Given the description of an element on the screen output the (x, y) to click on. 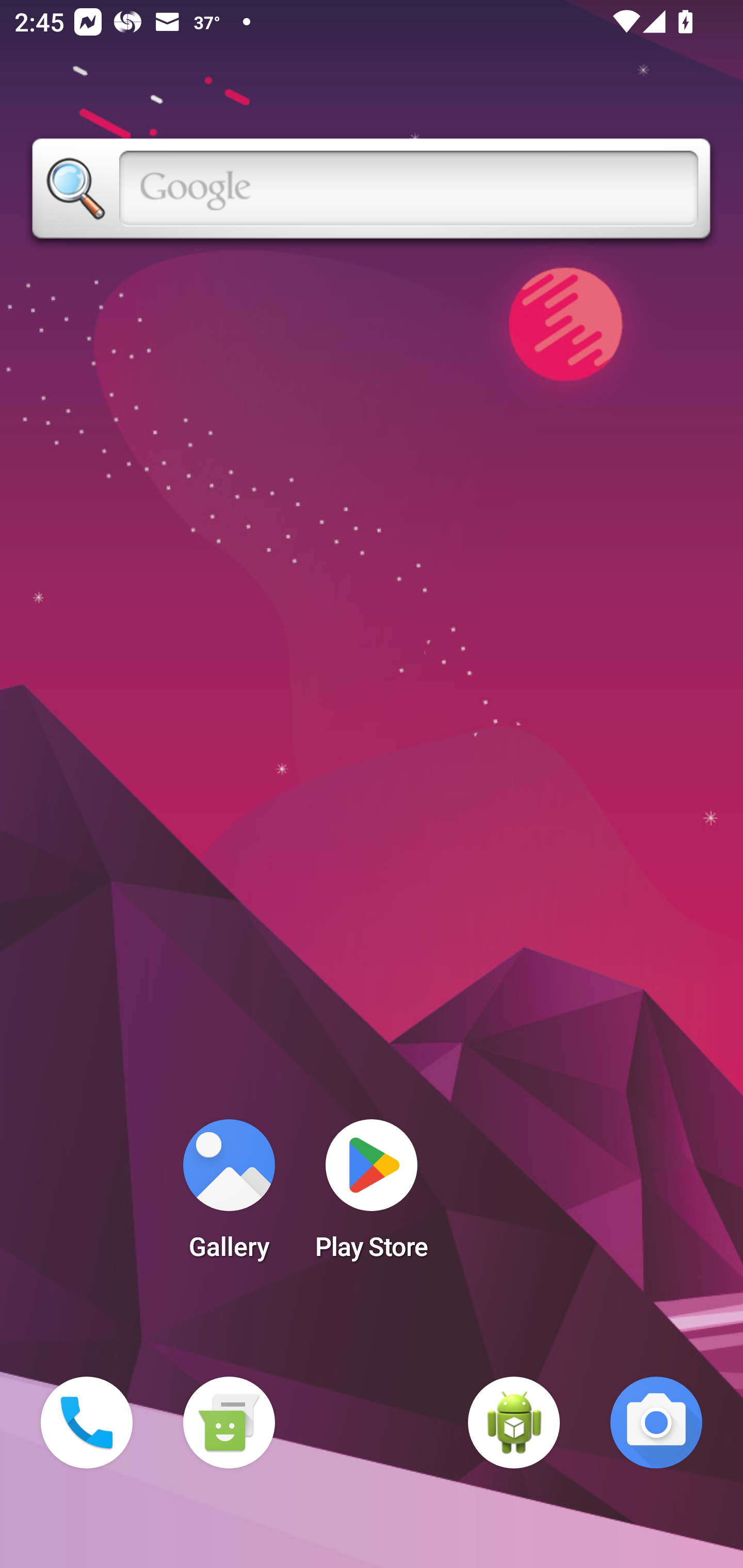
Gallery (228, 1195)
Play Store (371, 1195)
Phone (86, 1422)
Messaging (228, 1422)
WebView Browser Tester (513, 1422)
Camera (656, 1422)
